Given the description of an element on the screen output the (x, y) to click on. 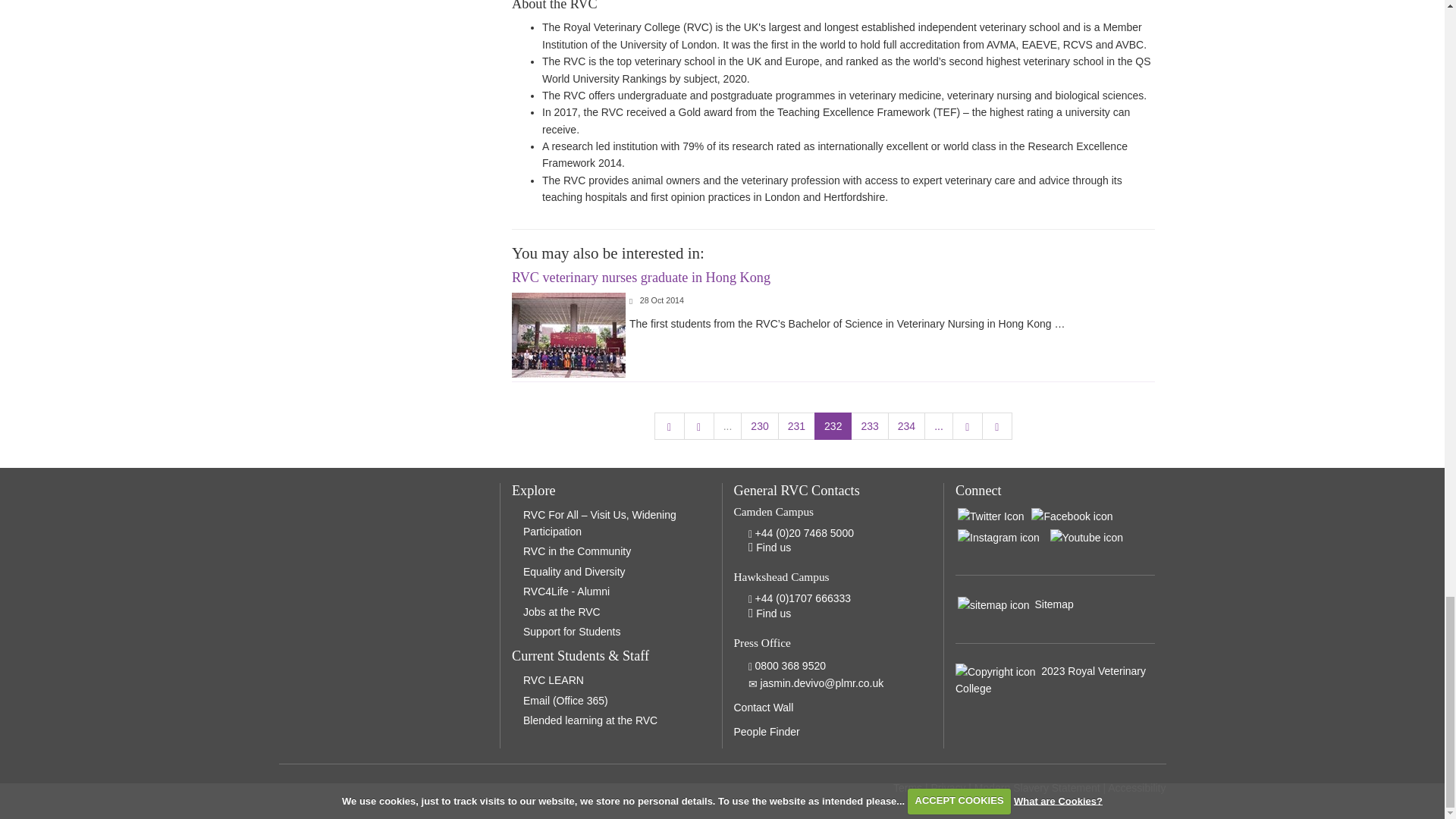
234 (906, 425)
233 (869, 425)
232 (832, 425)
231 (796, 425)
230 (759, 425)
... (938, 425)
... (727, 425)
RVC veterinary nurses graduate in Hong Kong (641, 277)
